Given the description of an element on the screen output the (x, y) to click on. 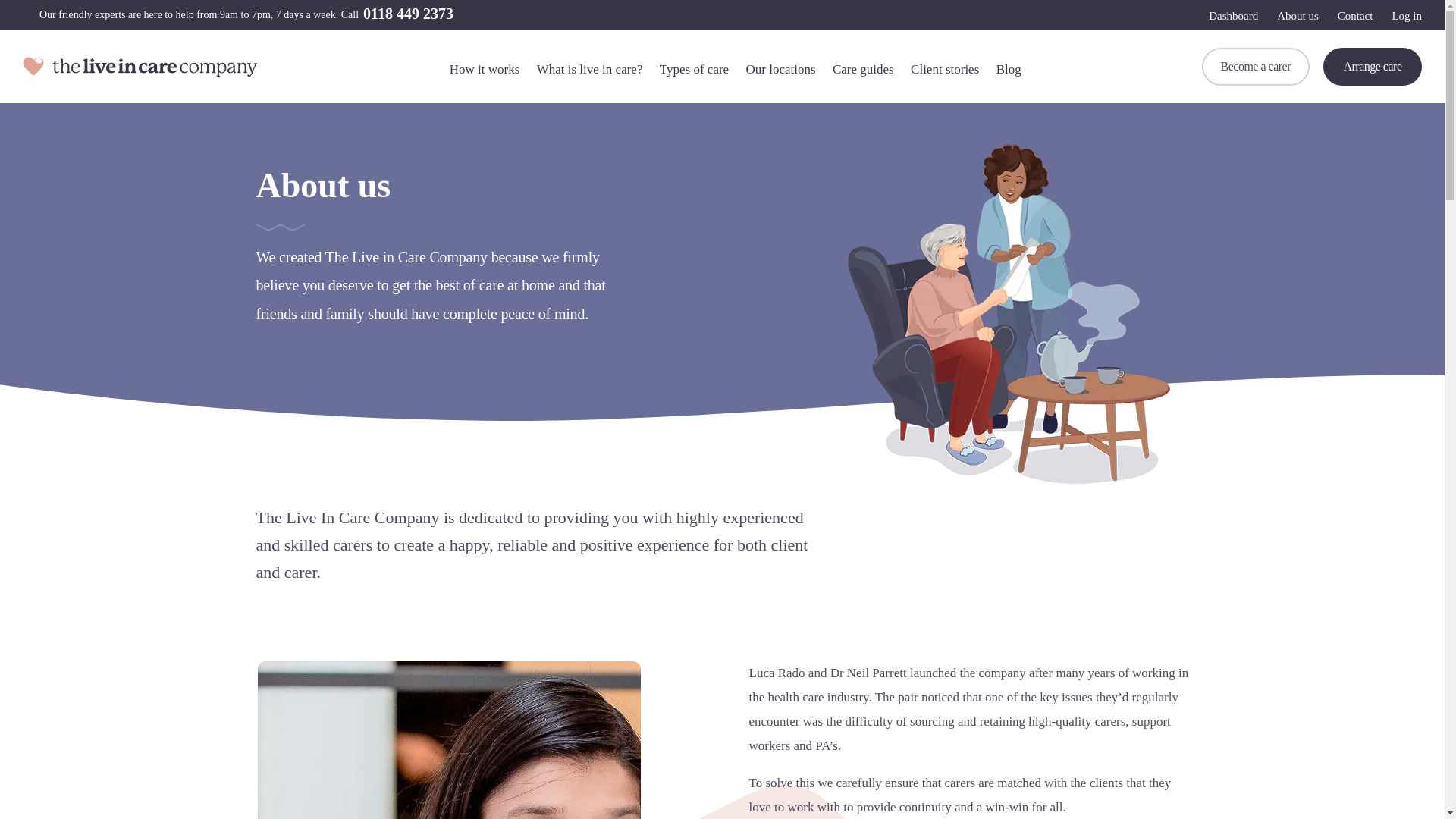
How it works (484, 69)
Contact (1355, 15)
0118 449 2373 (407, 13)
Types of care (694, 69)
About us (1297, 15)
What is live in care? (590, 69)
Dashboard (1232, 15)
Log in (1406, 15)
